Given the description of an element on the screen output the (x, y) to click on. 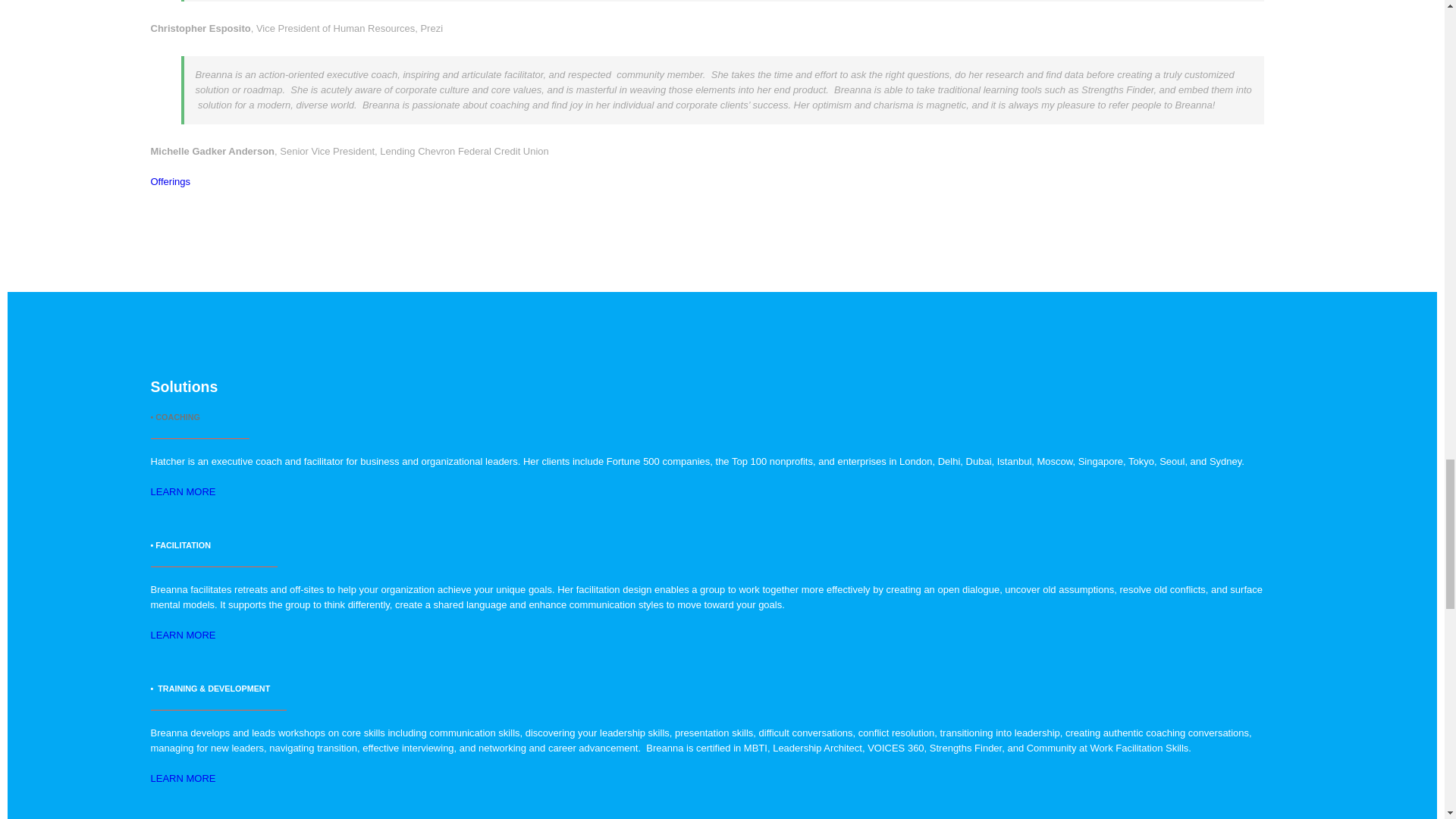
LEARN MORE (182, 778)
LEARN MORE (182, 491)
Offerings (169, 181)
LEARN MORE (182, 634)
